Given the description of an element on the screen output the (x, y) to click on. 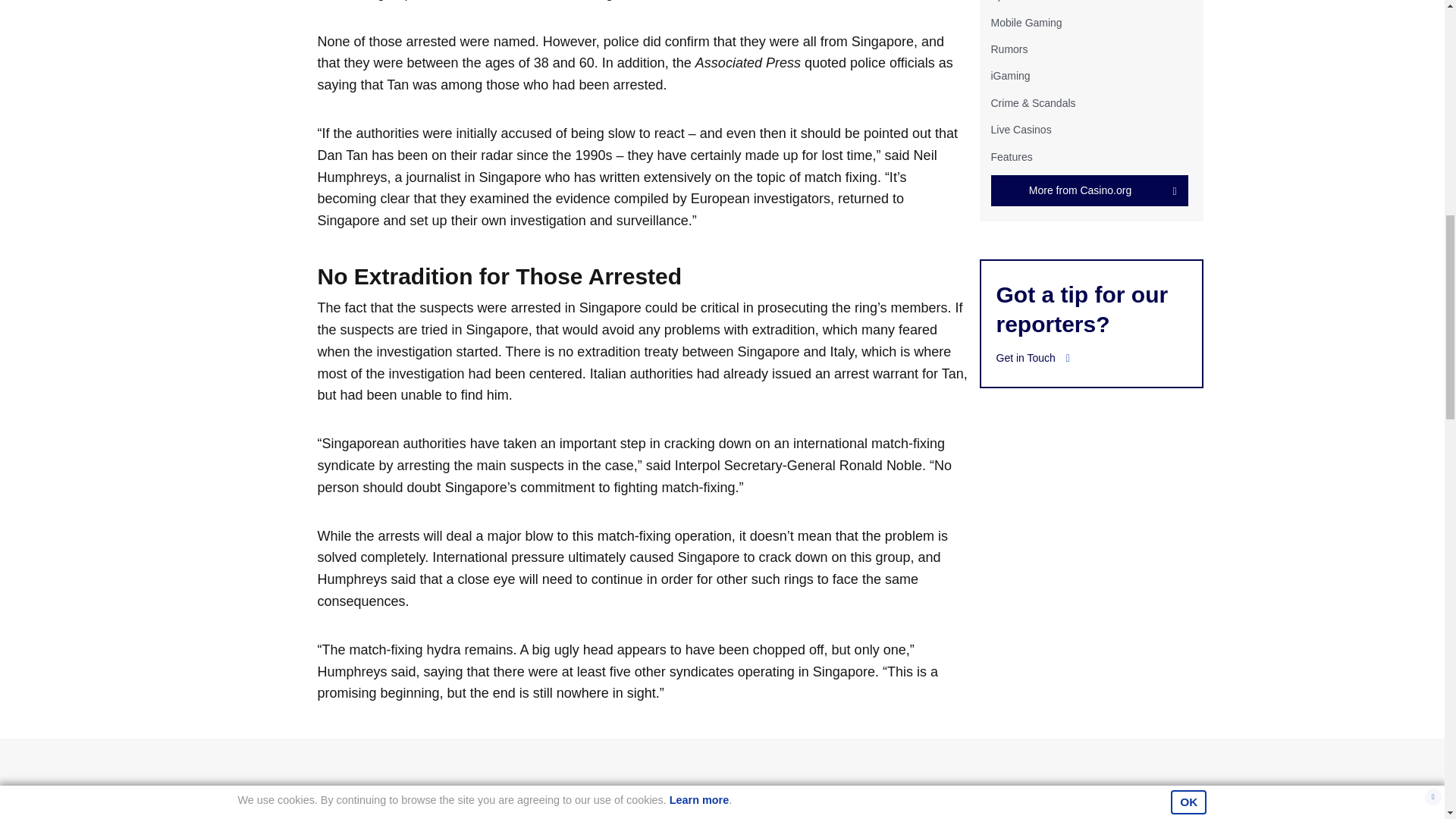
iGaming (1009, 75)
Features (1011, 155)
Live Casinos (1020, 129)
Rumors (1008, 49)
iGaming (1009, 75)
Sports (1005, 0)
Mobile Gaming (1025, 22)
Rumors (1008, 49)
Sports (1005, 0)
Mobile Gaming (1025, 22)
